Given the description of an element on the screen output the (x, y) to click on. 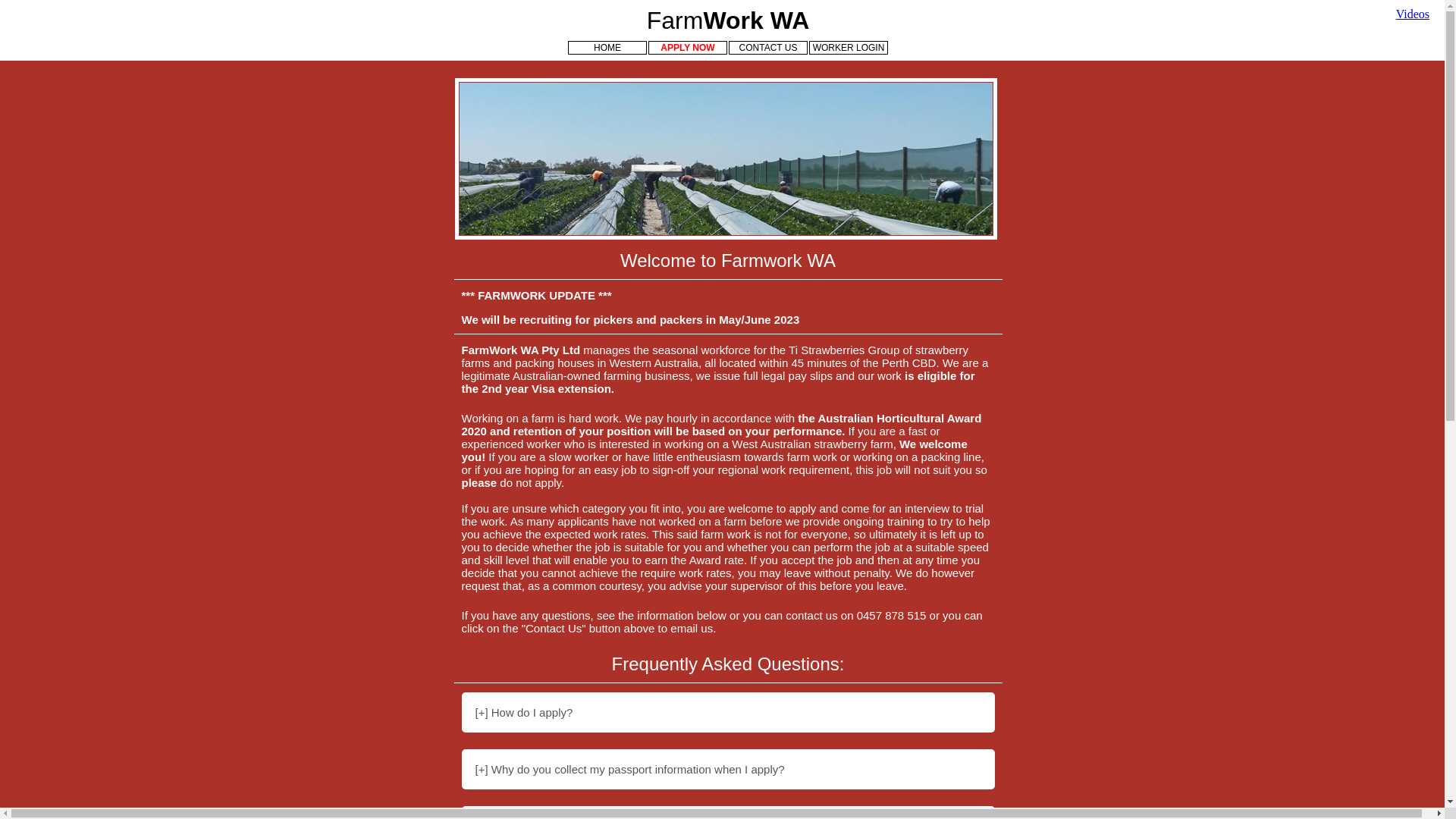
CONTACT US Element type: text (767, 47)
[+] How do I apply? Element type: text (727, 712)
Videos Element type: text (1412, 13)
WORKER LOGIN Element type: text (848, 47)
[+] Why do you collect my passport information when I apply? Element type: text (727, 769)
HOME Element type: text (606, 47)
APPLY NOW Element type: text (687, 47)
